Given the description of an element on the screen output the (x, y) to click on. 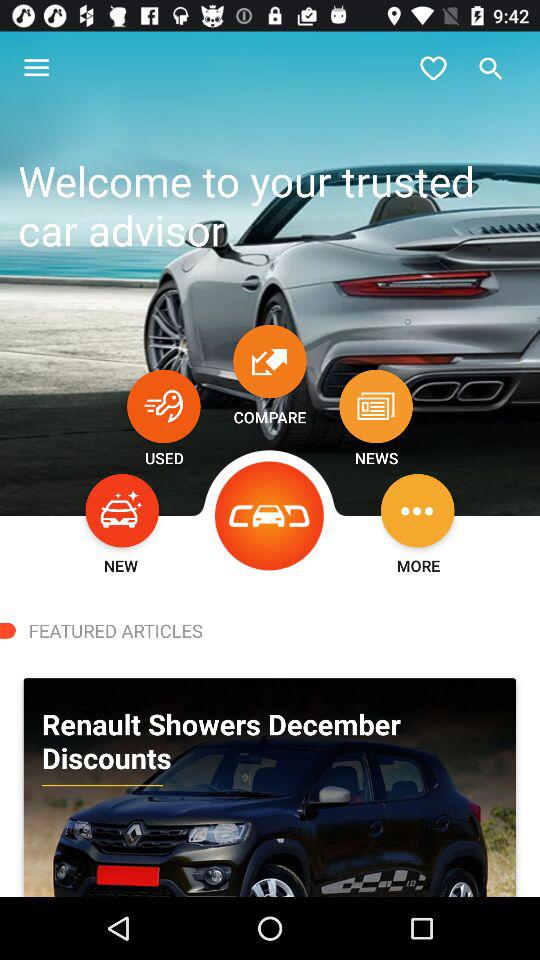
more options (417, 510)
